Given the description of an element on the screen output the (x, y) to click on. 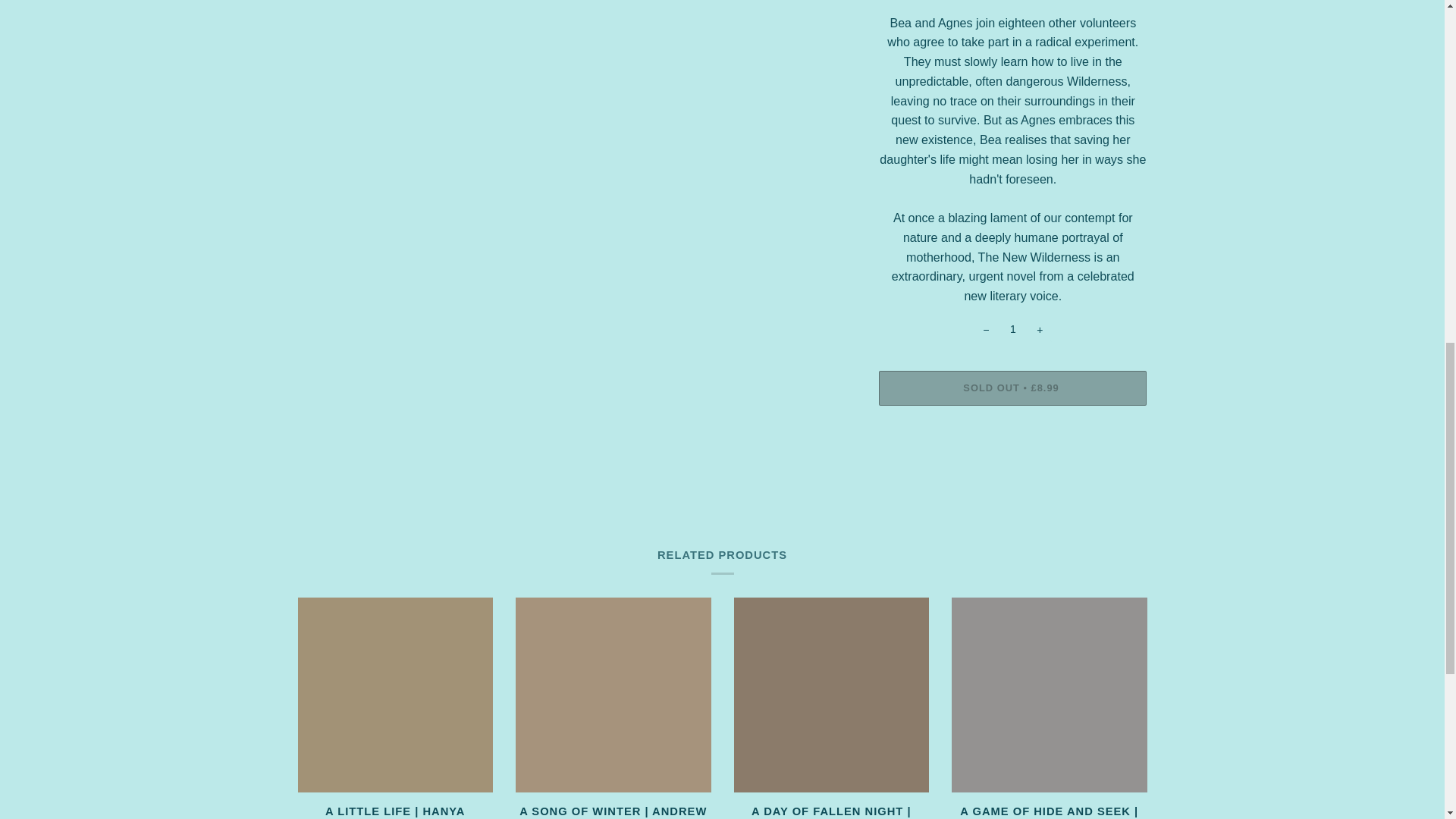
1 (1012, 329)
